Given the description of an element on the screen output the (x, y) to click on. 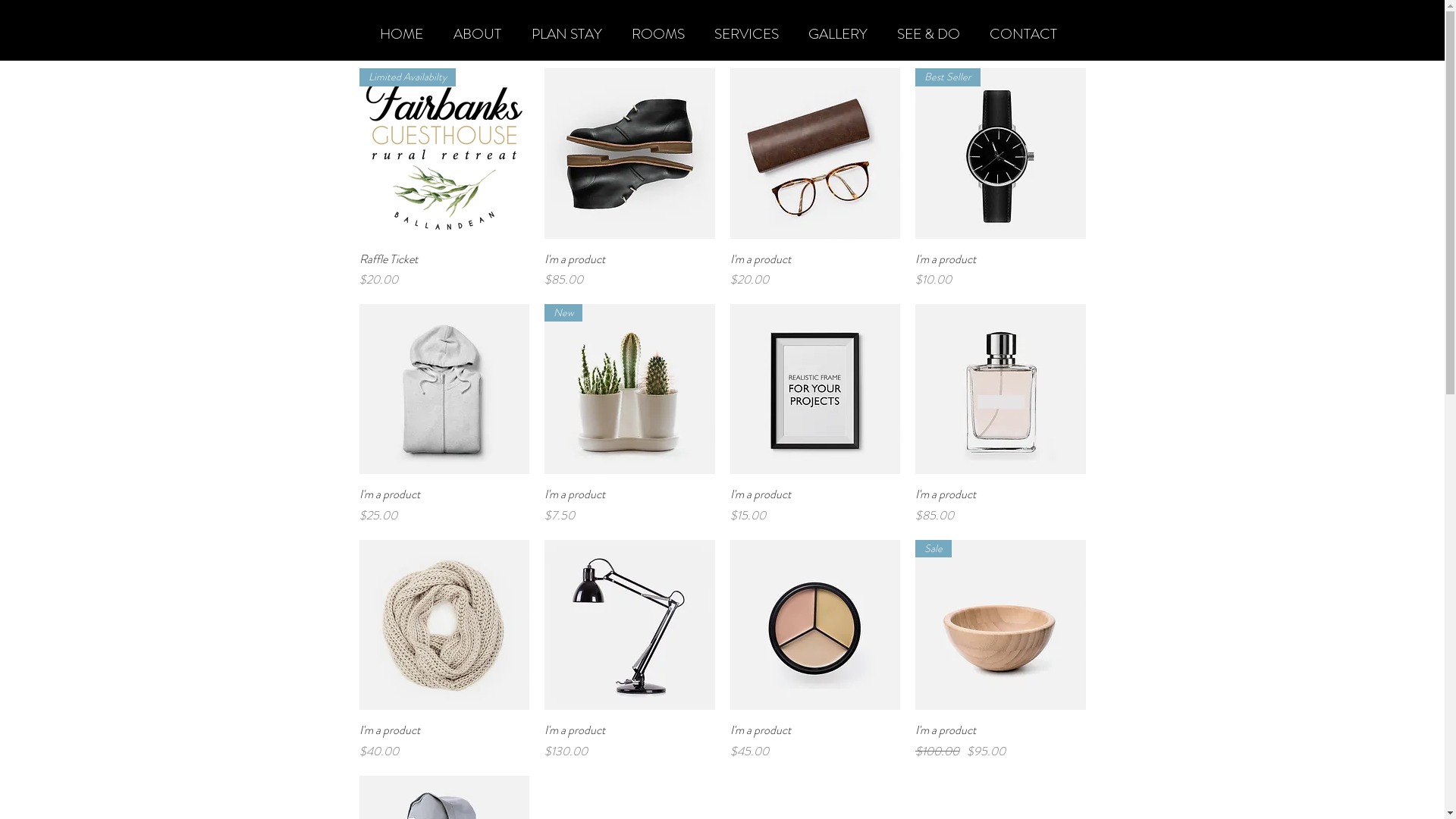
Raffle Ticket
Price
$20.00 Element type: text (444, 269)
I'm a product
Regular Price
$100.00
Sale Price
$95.00 Element type: text (1000, 740)
I'm a product
Price
$40.00 Element type: text (444, 740)
I'm a product
Price
$45.00 Element type: text (814, 740)
ABOUT Element type: text (477, 34)
New Element type: text (629, 389)
I'm a product
Price
$85.00 Element type: text (629, 269)
GALLERY Element type: text (837, 34)
I'm a product
Price
$7.50 Element type: text (629, 505)
I'm a product
Price
$25.00 Element type: text (444, 505)
I'm a product
Price
$85.00 Element type: text (1000, 505)
SEE & DO Element type: text (928, 34)
SERVICES Element type: text (746, 34)
CONTACT Element type: text (1023, 34)
HOME Element type: text (400, 34)
I'm a product
Price
$15.00 Element type: text (814, 505)
I'm a product
Price
$10.00 Element type: text (1000, 269)
I'm a product
Price
$130.00 Element type: text (629, 740)
I'm a product
Price
$20.00 Element type: text (814, 269)
ROOMS Element type: text (658, 34)
Limited Availabilty Element type: text (444, 153)
Best Seller Element type: text (1000, 153)
PLAN STAY Element type: text (565, 34)
Sale Element type: text (1000, 624)
